Given the description of an element on the screen output the (x, y) to click on. 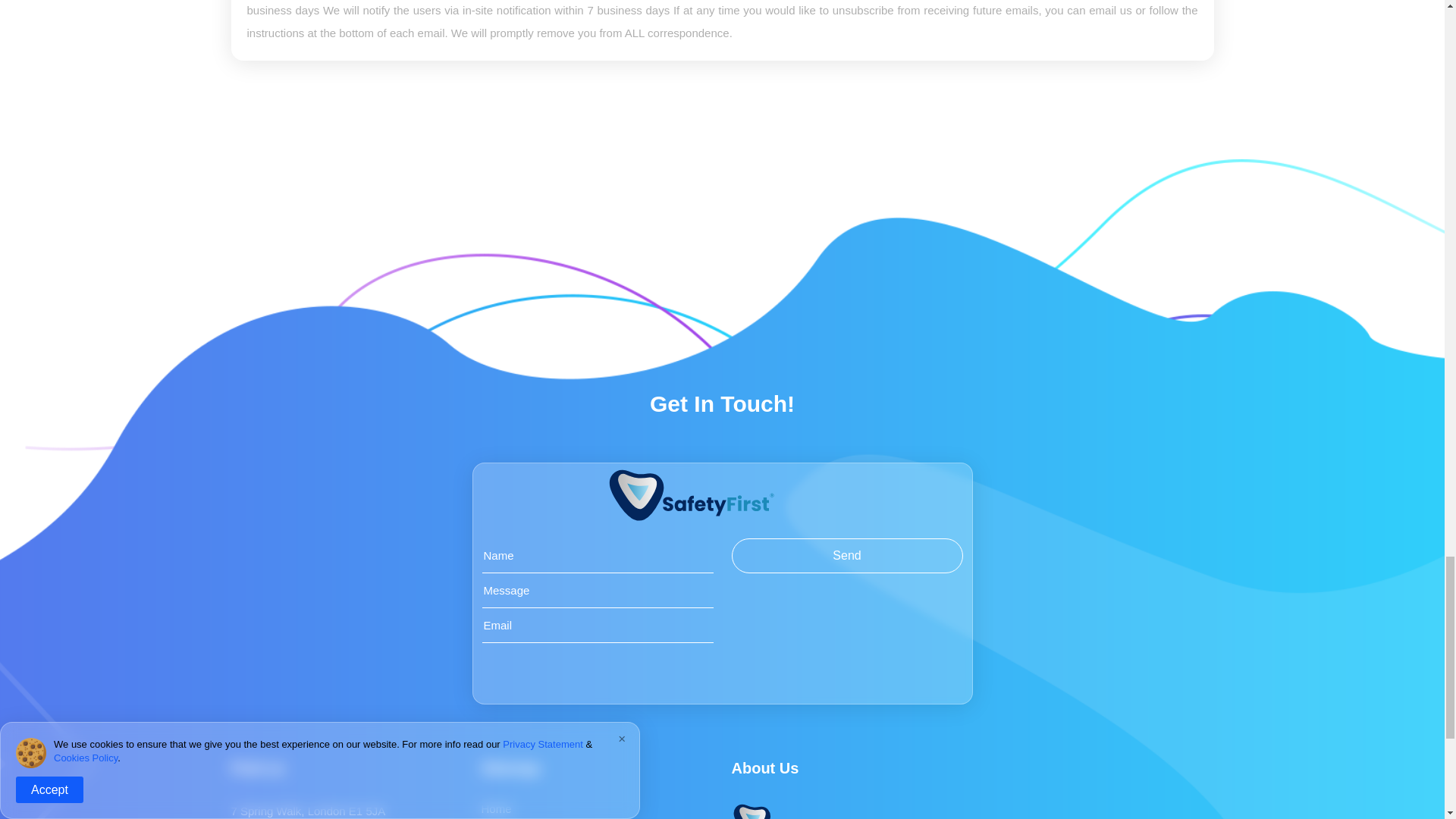
Home (495, 808)
Send (846, 555)
